Given the description of an element on the screen output the (x, y) to click on. 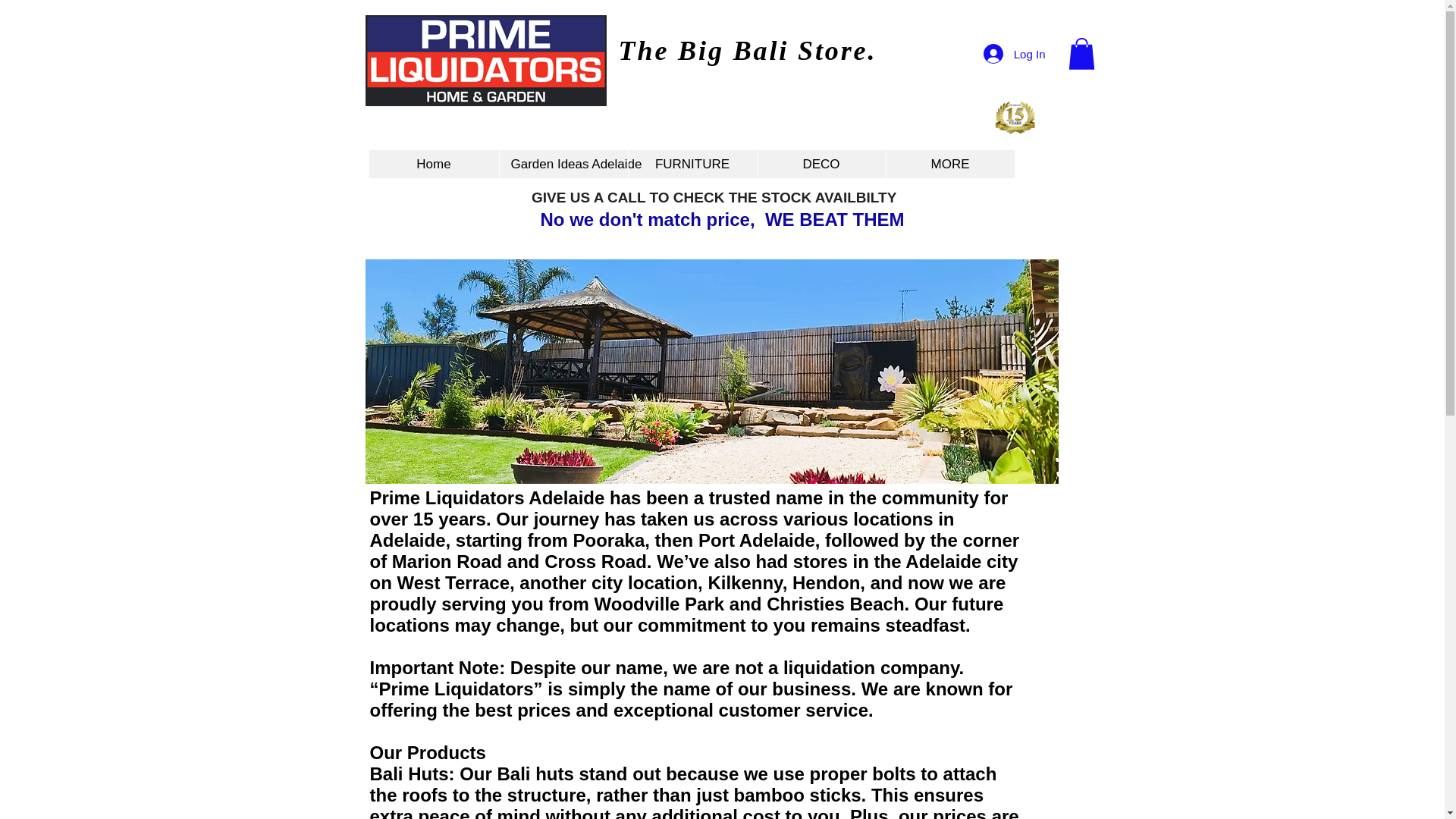
Log In (1014, 53)
FURNITURE (692, 163)
DECO (821, 163)
Garden Ideas Adelaide (563, 163)
Home (432, 163)
